Given the description of an element on the screen output the (x, y) to click on. 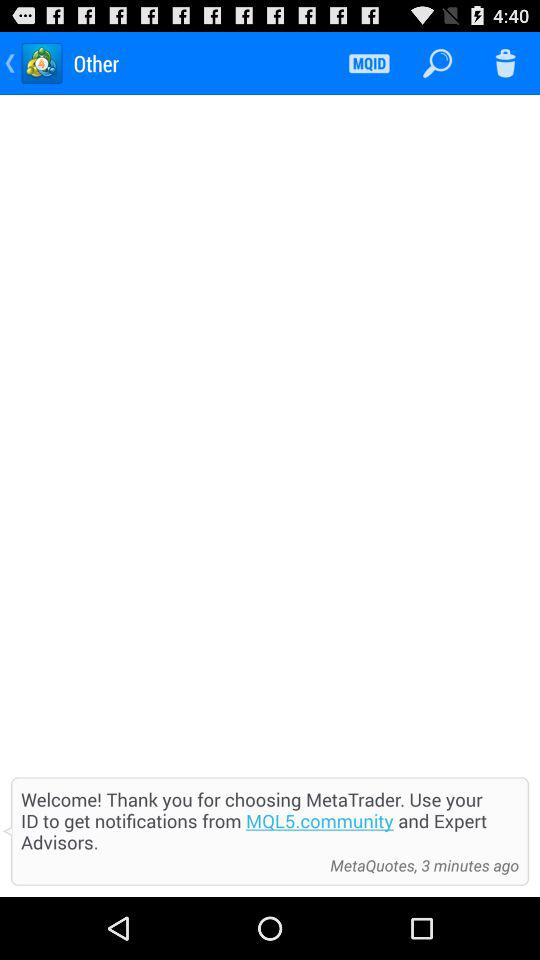
turn on the metaquotes 3 minutes at the bottom right corner (419, 865)
